Given the description of an element on the screen output the (x, y) to click on. 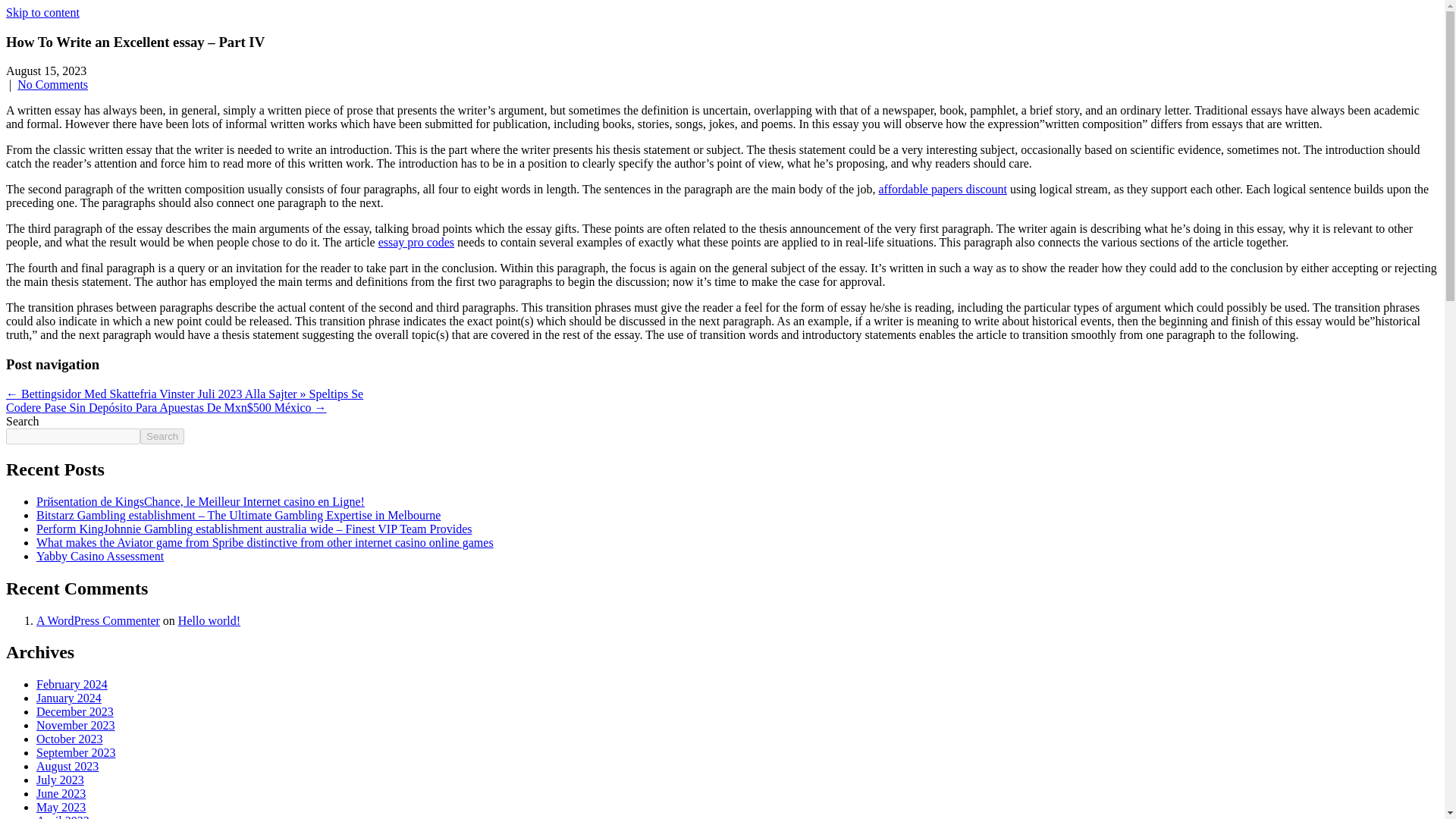
affordable papers discount (941, 188)
December 2023 (74, 711)
September 2023 (75, 752)
July 2023 (60, 779)
April 2023 (62, 816)
November 2023 (75, 725)
Skip to content (42, 11)
August 2023 (67, 766)
essay pro codes (416, 241)
January 2024 (68, 697)
No Comments (52, 83)
Yabby Casino Assessment (99, 555)
May 2023 (60, 807)
February 2024 (71, 684)
October 2023 (69, 738)
